Given the description of an element on the screen output the (x, y) to click on. 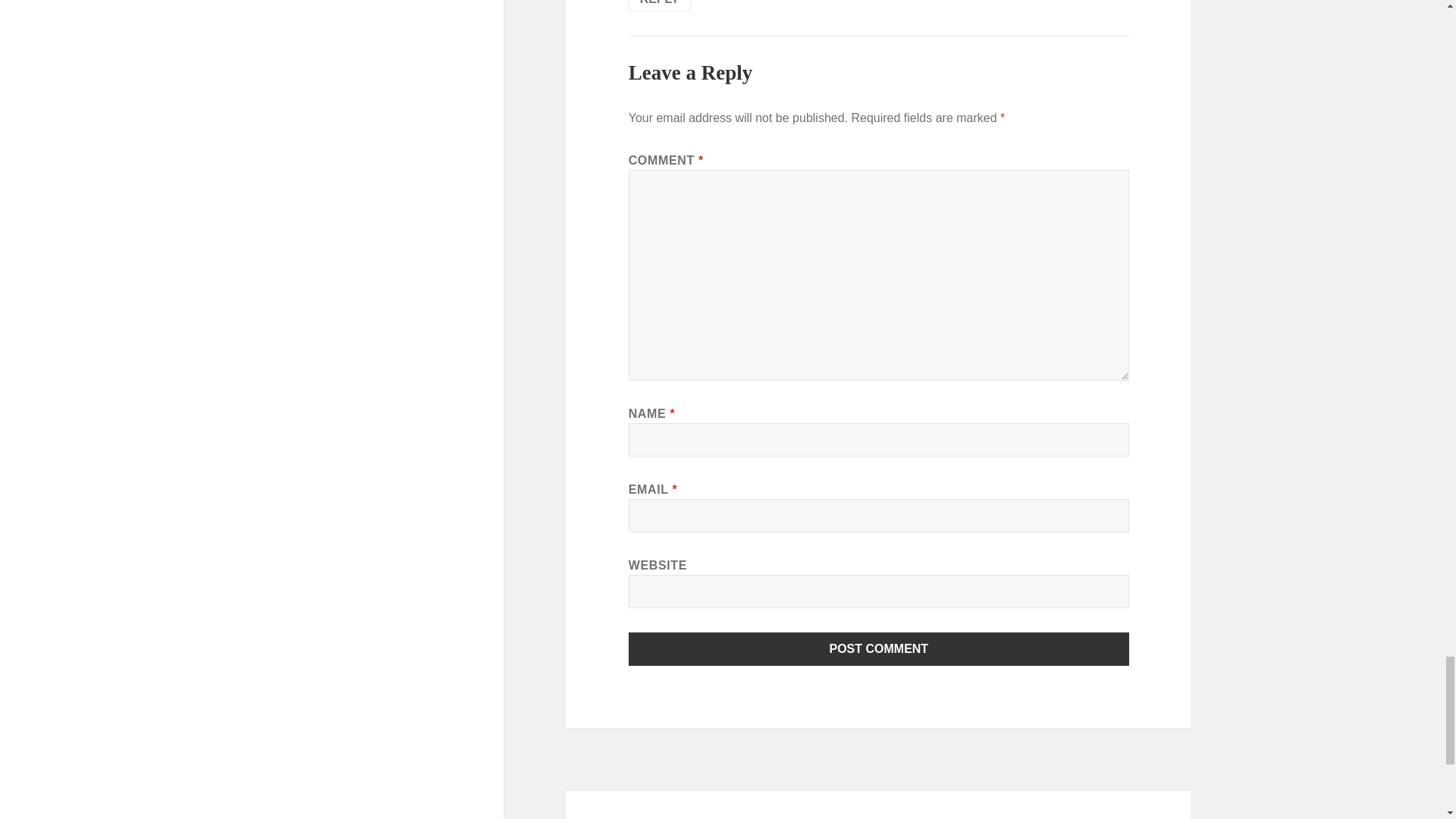
Post Comment (878, 648)
